Given the description of an element on the screen output the (x, y) to click on. 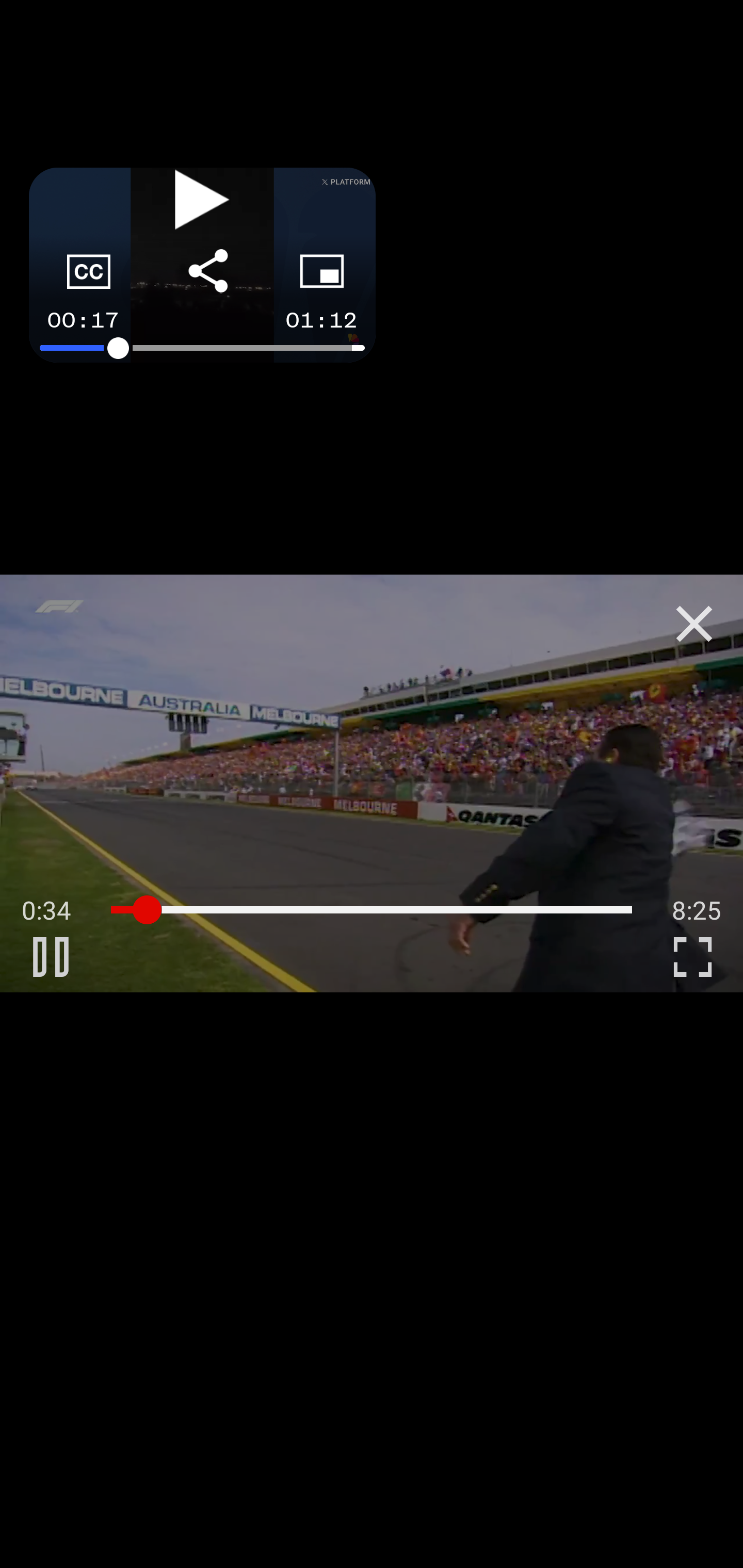
 Close (693, 623)
B Pause (50, 956)
C Enter Fullscreen (692, 956)
